Given the description of an element on the screen output the (x, y) to click on. 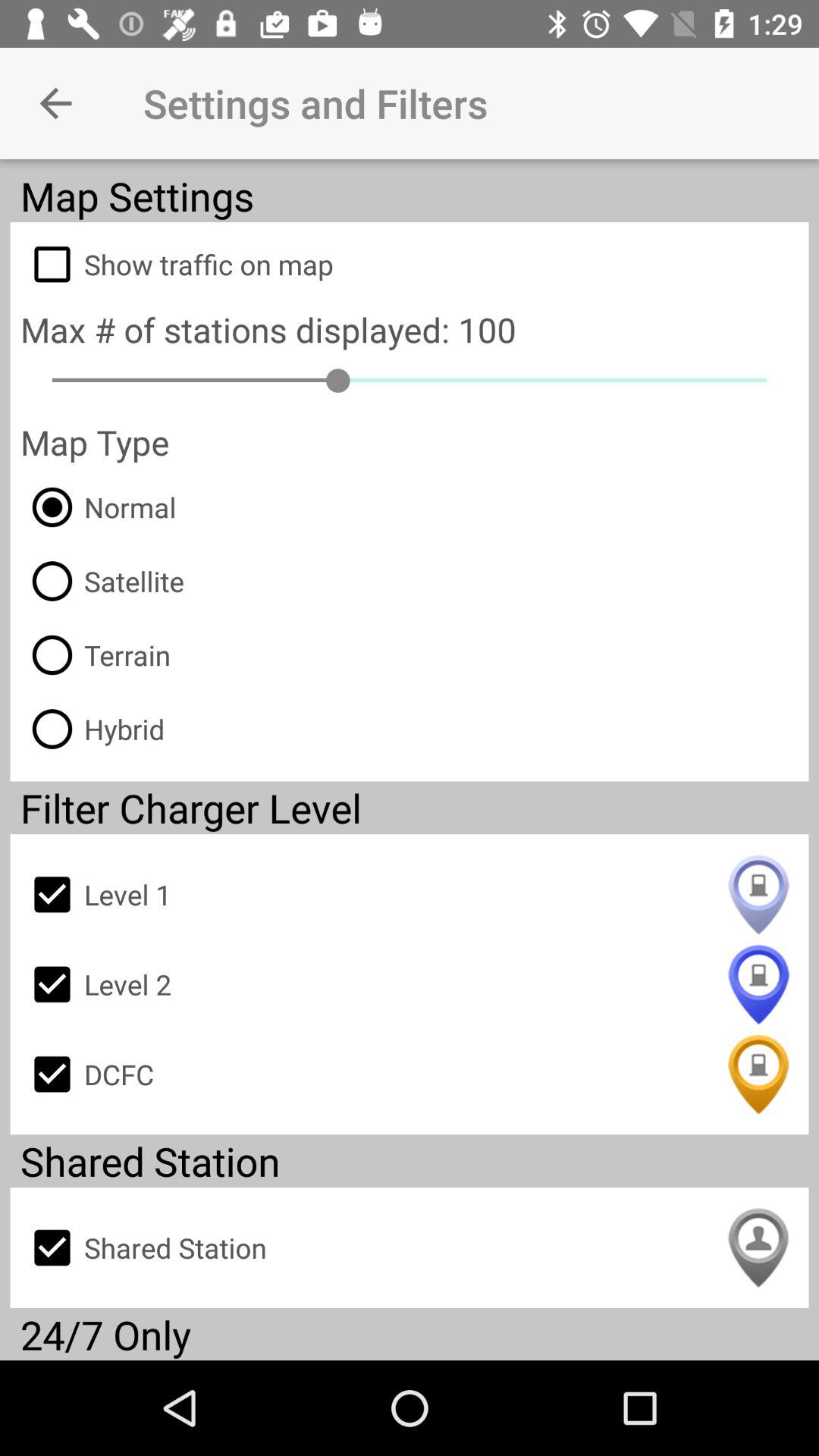
flip to the terrain item (95, 655)
